Given the description of an element on the screen output the (x, y) to click on. 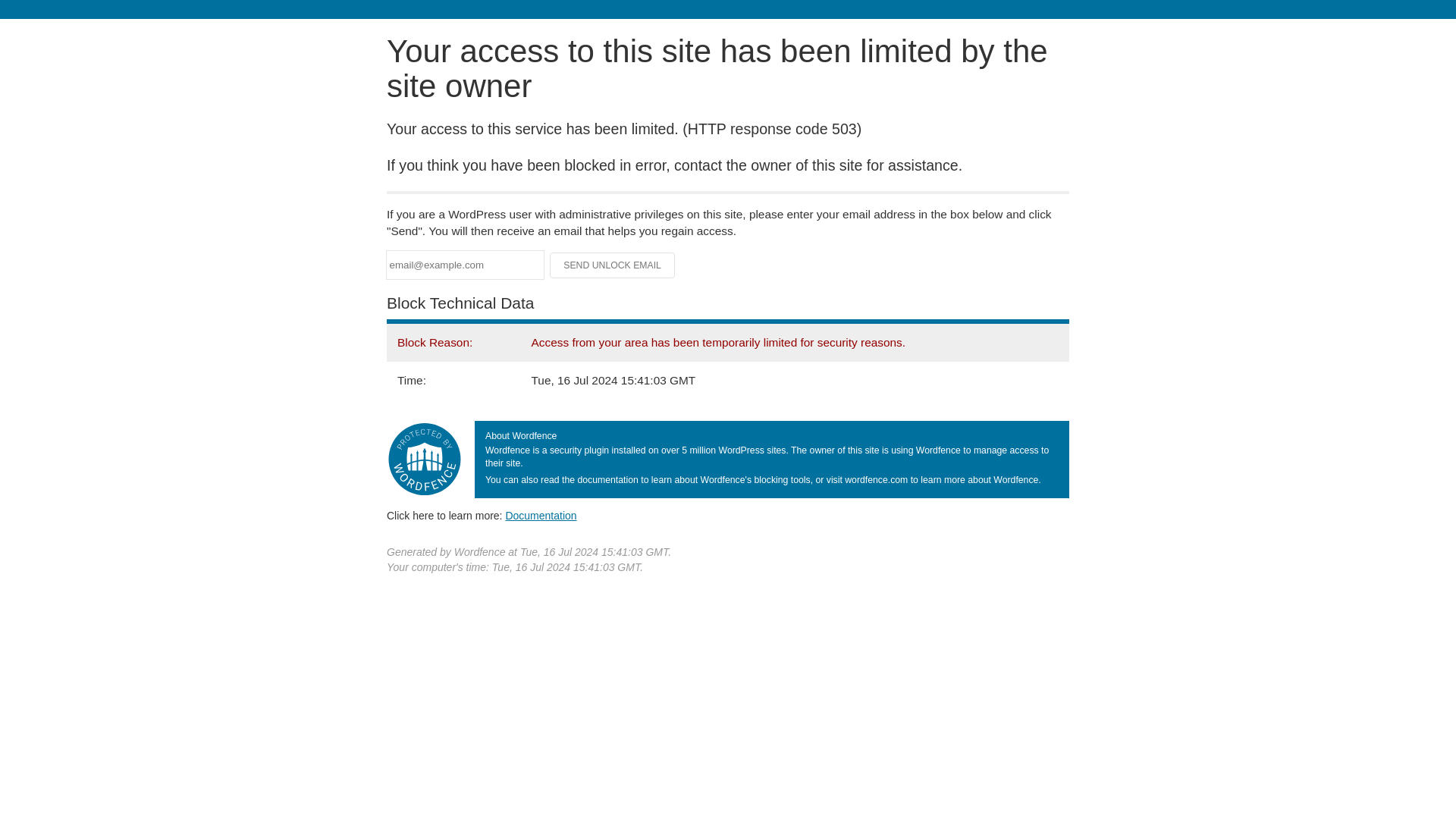
Documentation (540, 515)
Send Unlock Email (612, 265)
Send Unlock Email (612, 265)
